Given the description of an element on the screen output the (x, y) to click on. 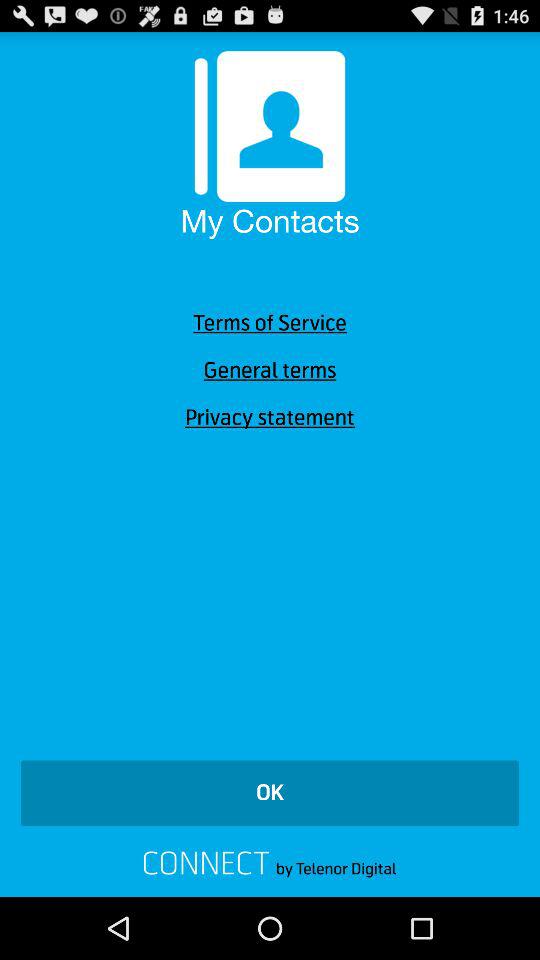
press the icon above ok icon (270, 417)
